Given the description of an element on the screen output the (x, y) to click on. 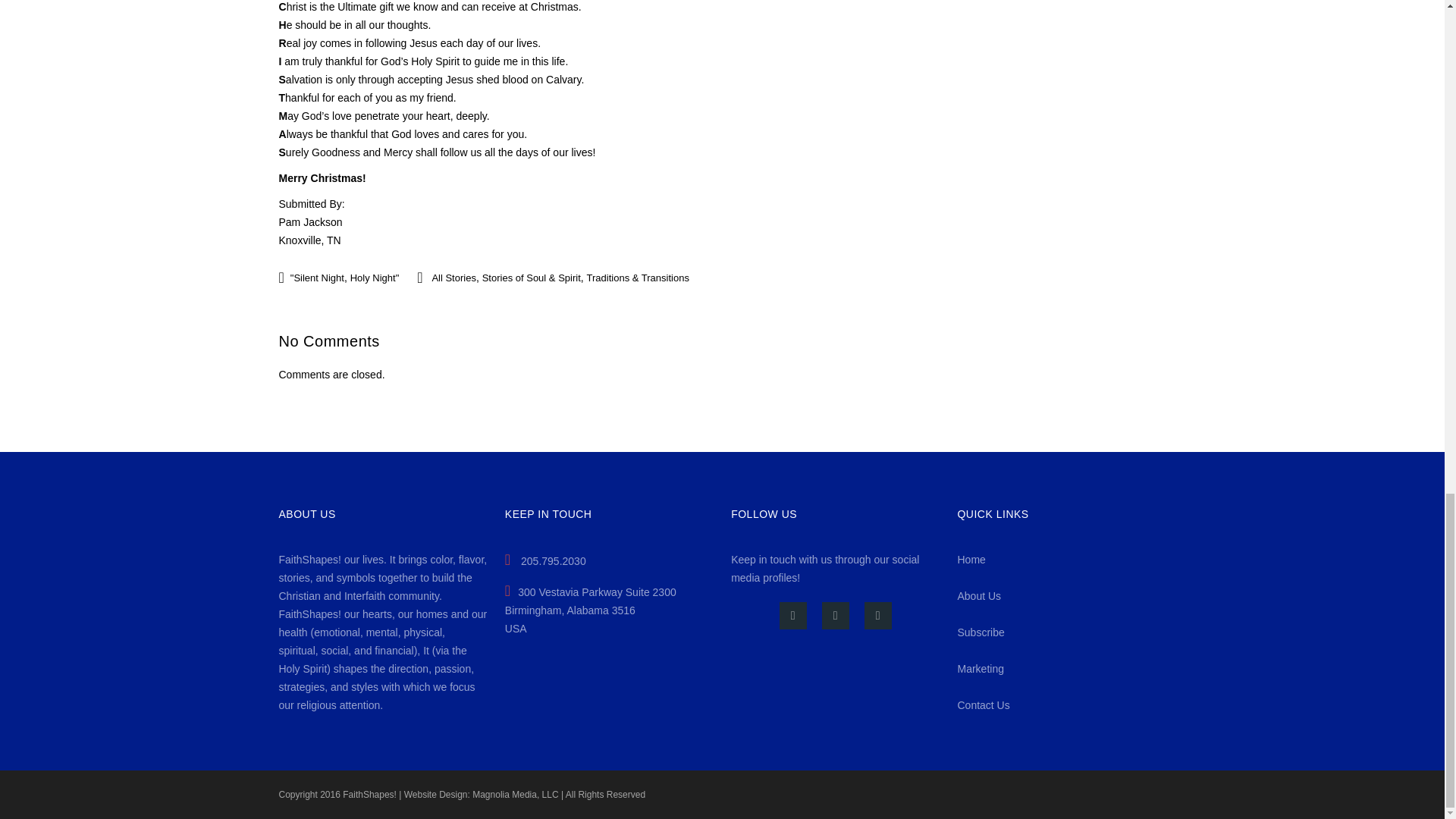
"Silent Night (316, 277)
Facebook (792, 615)
LinkedIn (877, 615)
Twitter (835, 615)
All Stories (453, 277)
Holy Night" (374, 277)
